Given the description of an element on the screen output the (x, y) to click on. 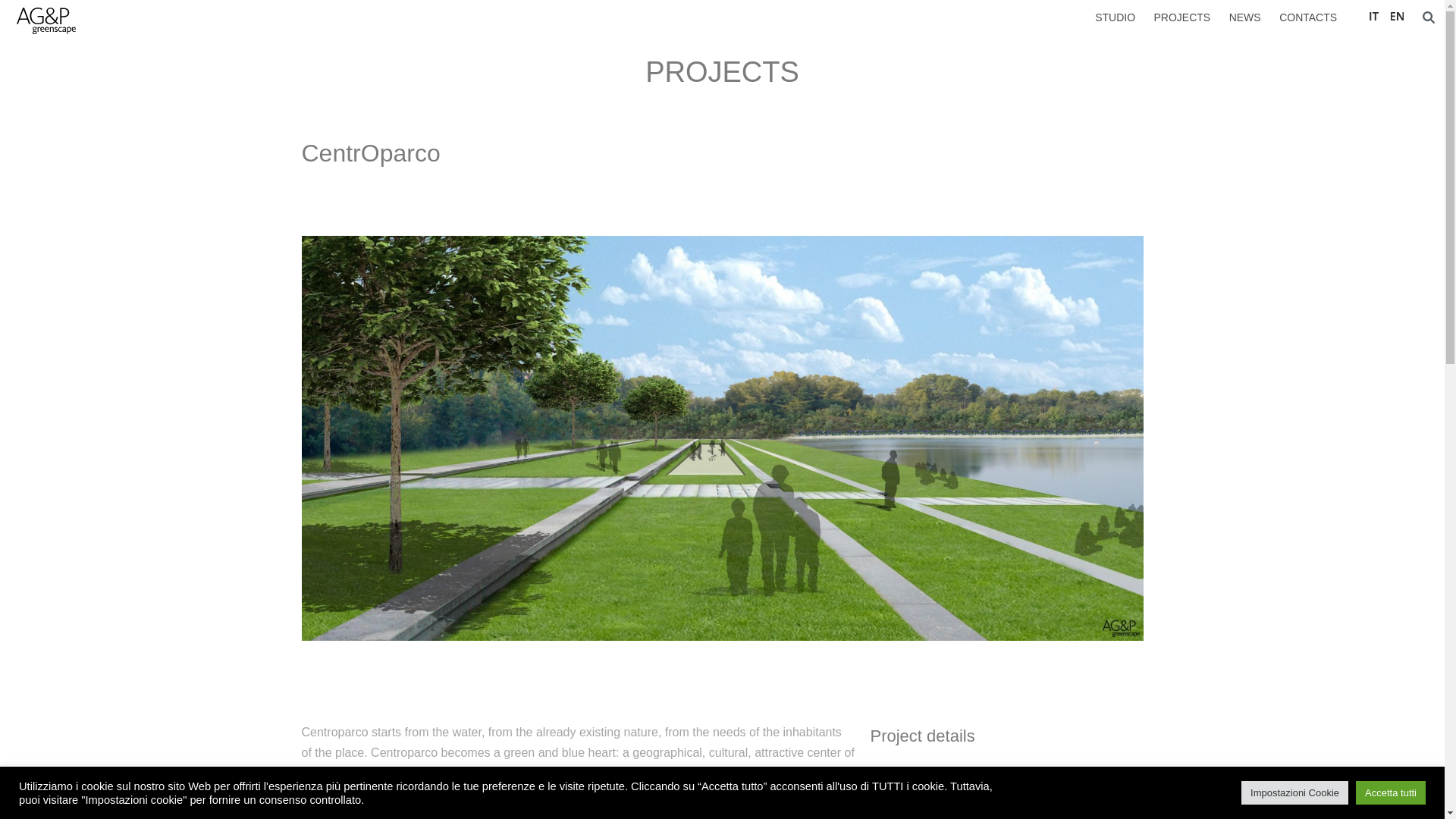
PROJECTS (721, 72)
Search (32, 11)
PROJECTS (1182, 17)
STUDIO (1114, 17)
NEWS (1244, 17)
CONTACTS (1307, 17)
